Given the description of an element on the screen output the (x, y) to click on. 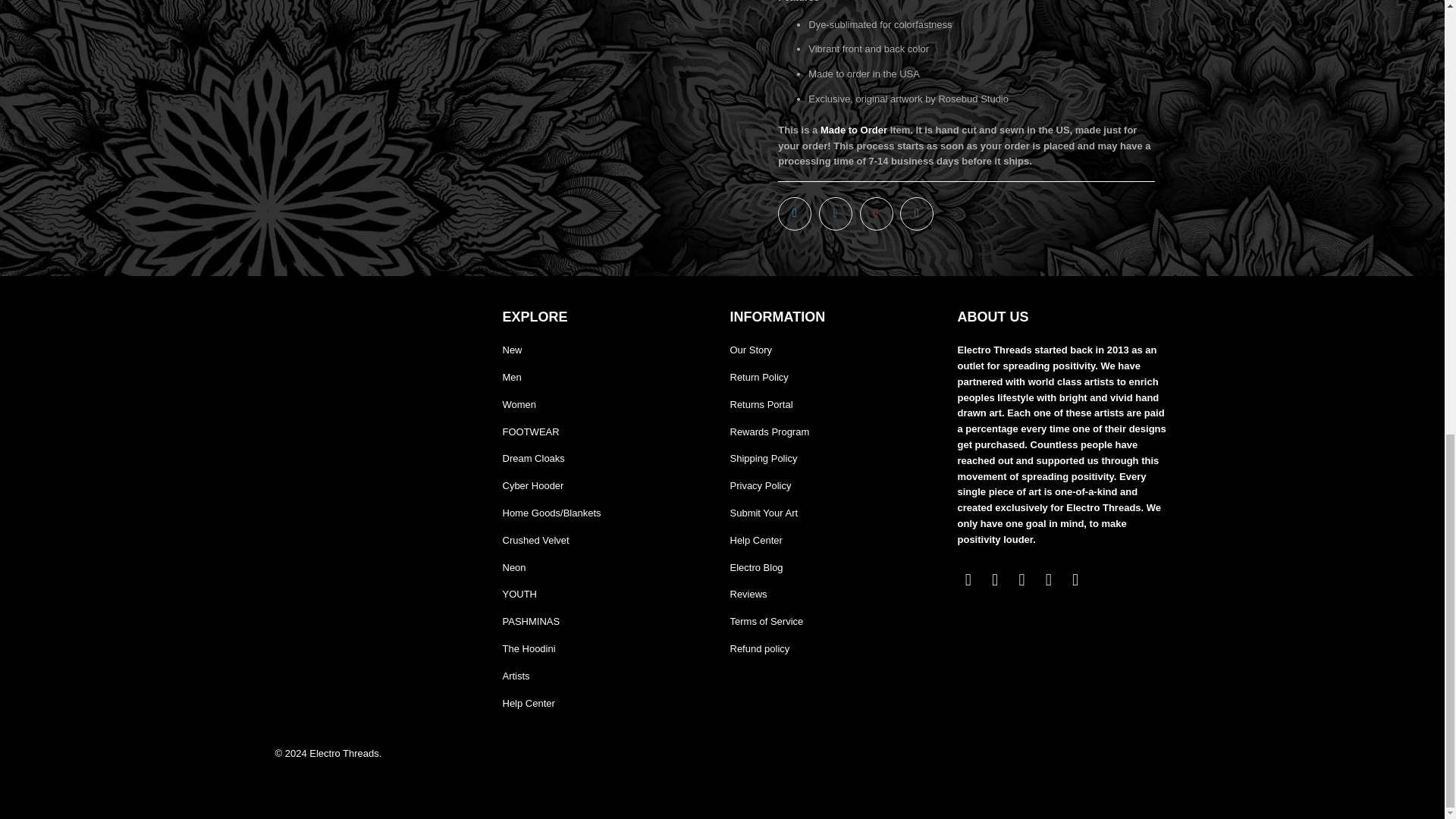
Made to Order (853, 129)
Share this on Pinterest (876, 213)
Share this on Twitter (793, 213)
Email this to a friend (916, 213)
Share this on Facebook (834, 213)
